Given the description of an element on the screen output the (x, y) to click on. 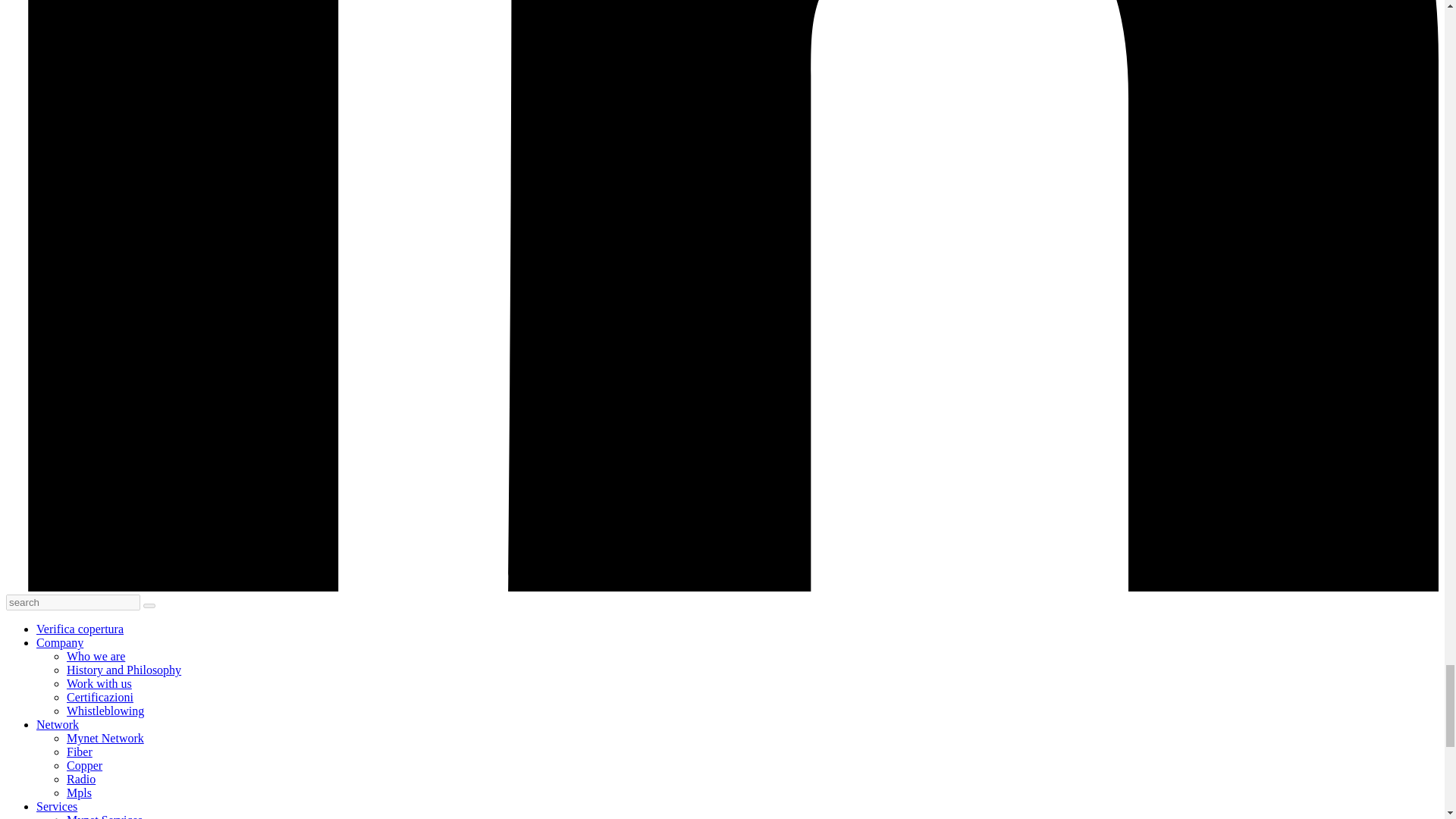
Certificazioni (99, 697)
Company (59, 642)
Copper (83, 765)
Mynet Services (104, 816)
History and Philosophy (123, 669)
Services (56, 806)
Whistleblowing (105, 710)
Work with us (99, 683)
Verifica copertura (79, 628)
Who we are (95, 656)
Radio (81, 779)
Mpls (78, 792)
Network (57, 724)
Fiber (79, 751)
Mynet Network (105, 738)
